Given the description of an element on the screen output the (x, y) to click on. 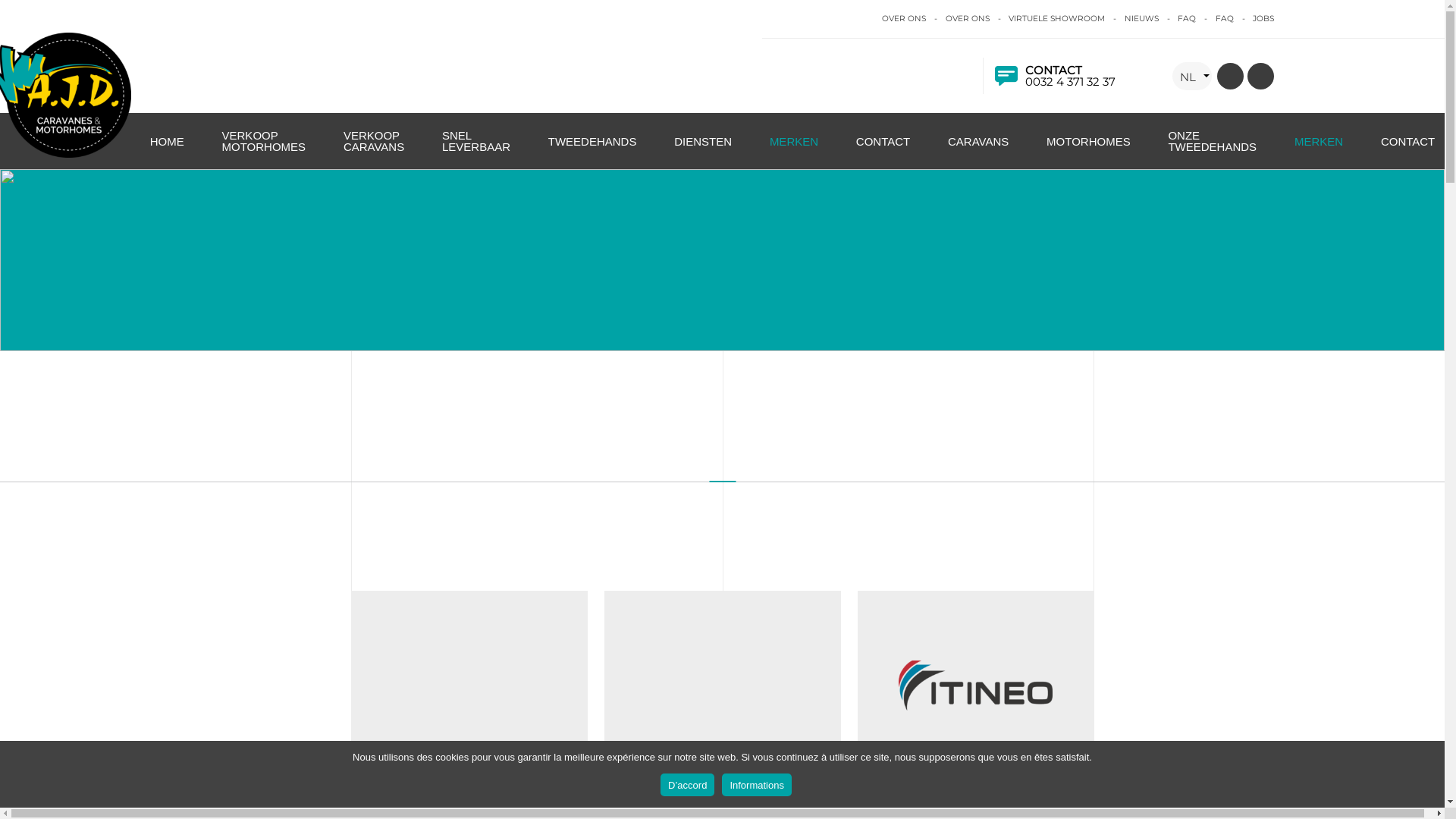
CONTACT Element type: text (1407, 149)
OVER ONS Element type: text (966, 18)
VERKOOP CARAVANS Element type: text (373, 149)
HOME Element type: text (167, 149)
ONZE TWEEDEHANDS Element type: text (1211, 149)
FAQ Element type: text (1223, 18)
NL Element type: text (1191, 76)
MERKEN Element type: text (1318, 149)
TWEEDEHANDS Element type: text (592, 149)
VERKOOP MOTORHOMES Element type: text (264, 149)
DIENSTEN Element type: text (702, 149)
MERKEN Element type: text (793, 149)
JOBS Element type: text (1263, 18)
NIEUWS Element type: text (1140, 18)
CARAVANS Element type: text (977, 149)
VIRTUELE SHOWROOM Element type: text (1056, 18)
CONTACT
0032 4 371 32 37 Element type: text (1054, 75)
SNEL LEVERBAAR Element type: text (476, 149)
Informations Element type: text (756, 784)
CONTACT Element type: text (883, 149)
MOTORHOMES Element type: text (1088, 149)
FAQ Element type: text (1186, 18)
OVER ONS Element type: text (903, 18)
